Given the description of an element on the screen output the (x, y) to click on. 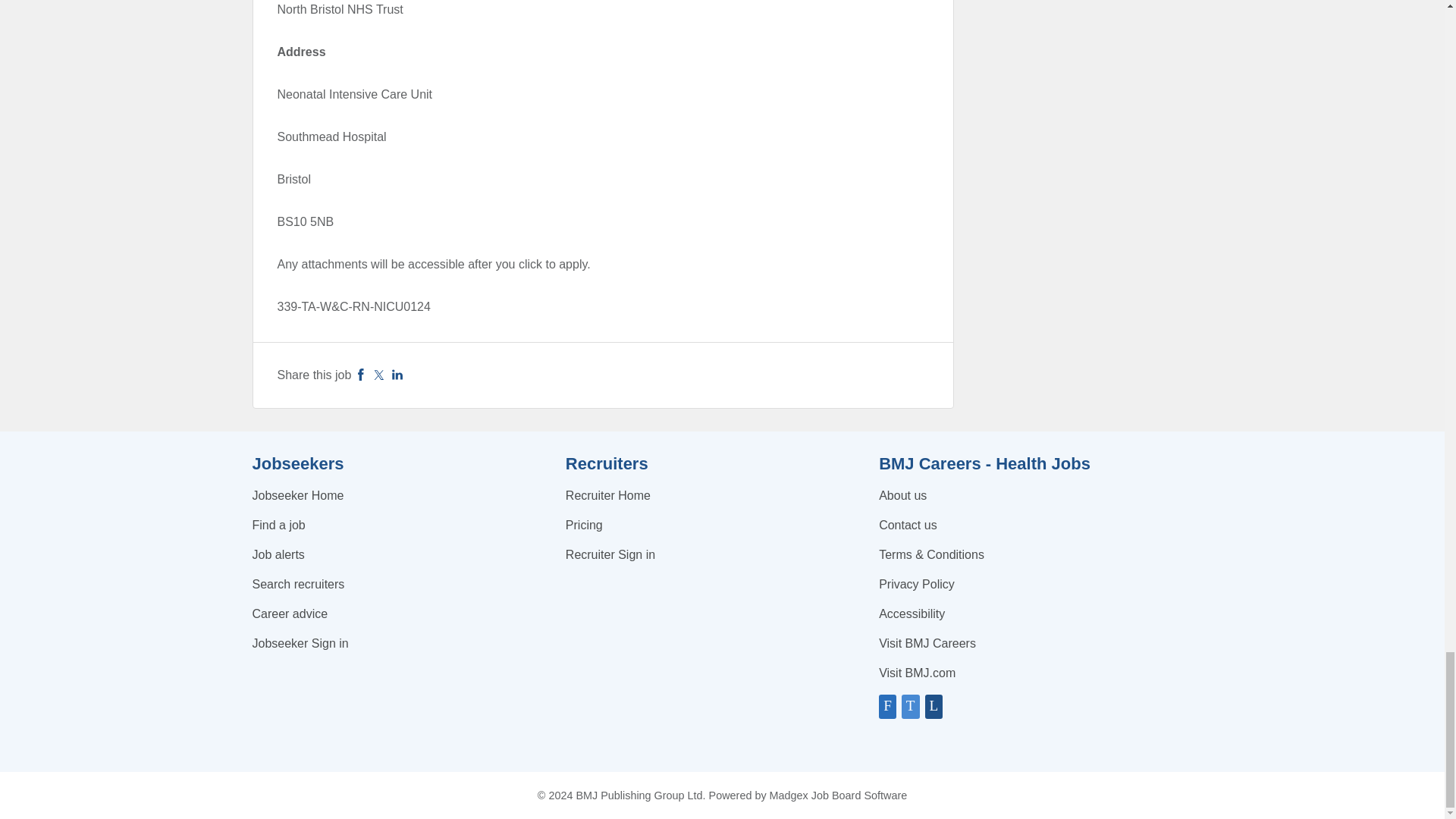
Facebook (360, 374)
Twitter (378, 374)
LinkedIn (397, 374)
